Given the description of an element on the screen output the (x, y) to click on. 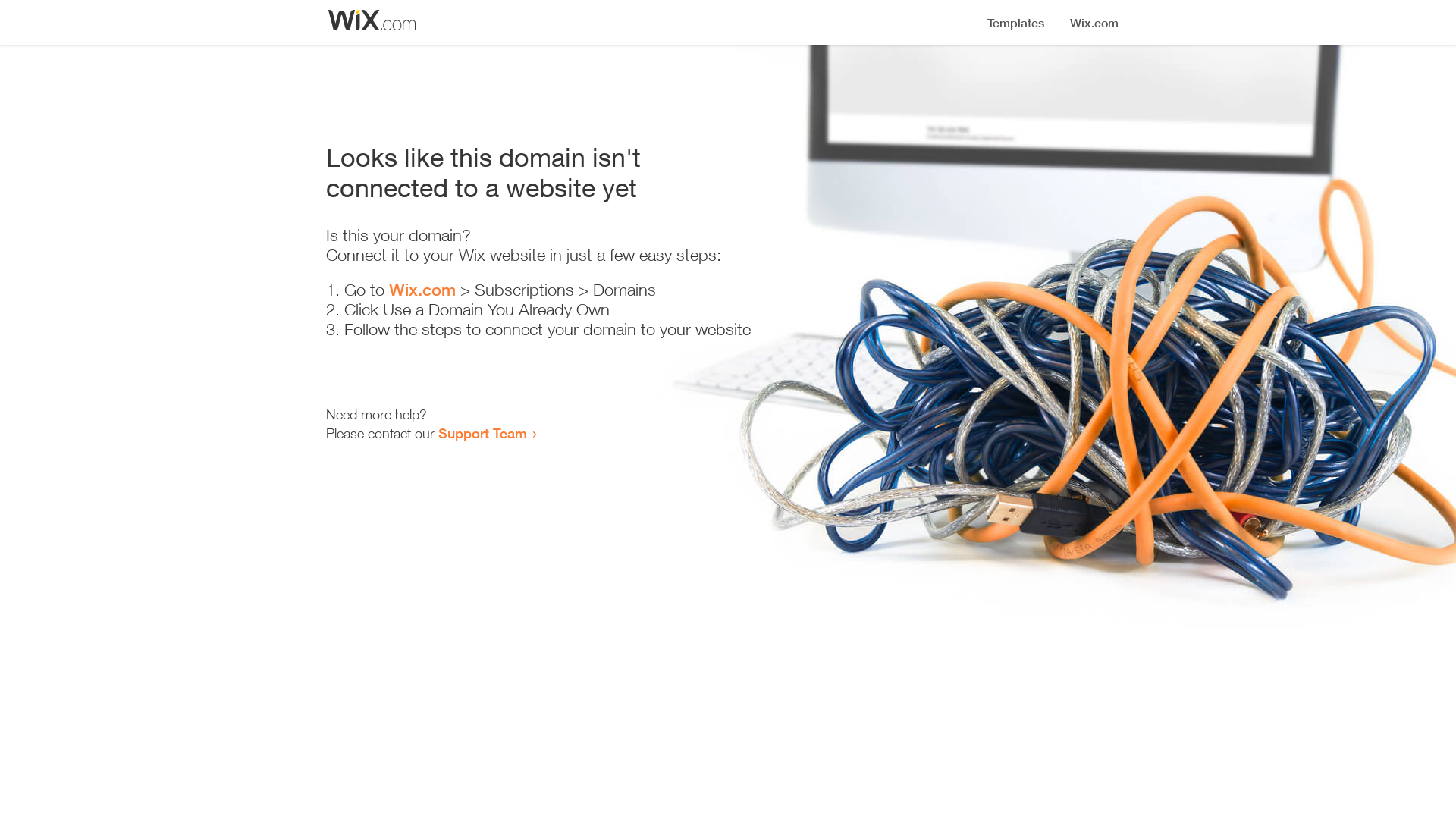
Wix.com Element type: text (422, 289)
Support Team Element type: text (482, 432)
